Given the description of an element on the screen output the (x, y) to click on. 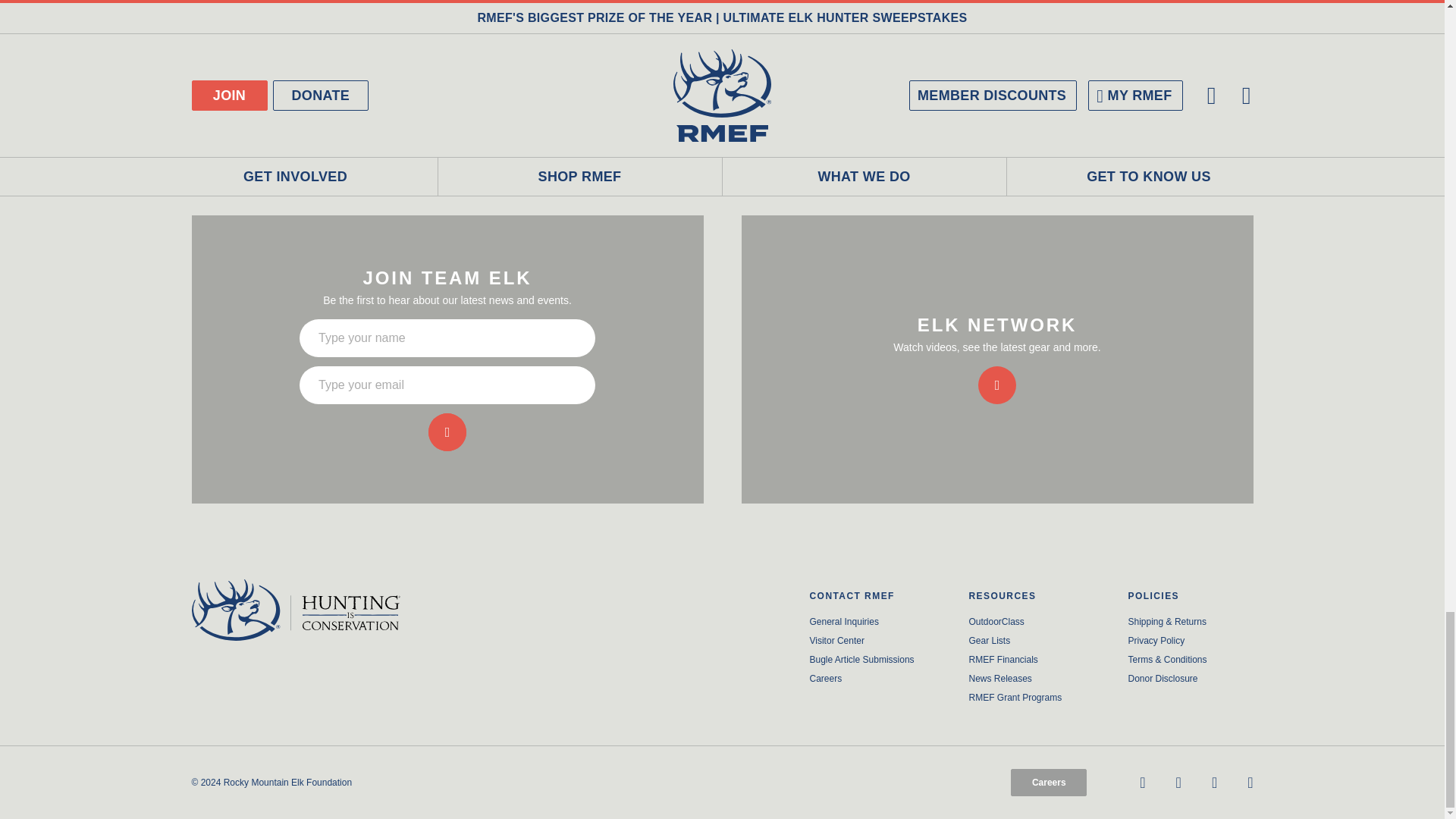
Home (314, 609)
